Given the description of an element on the screen output the (x, y) to click on. 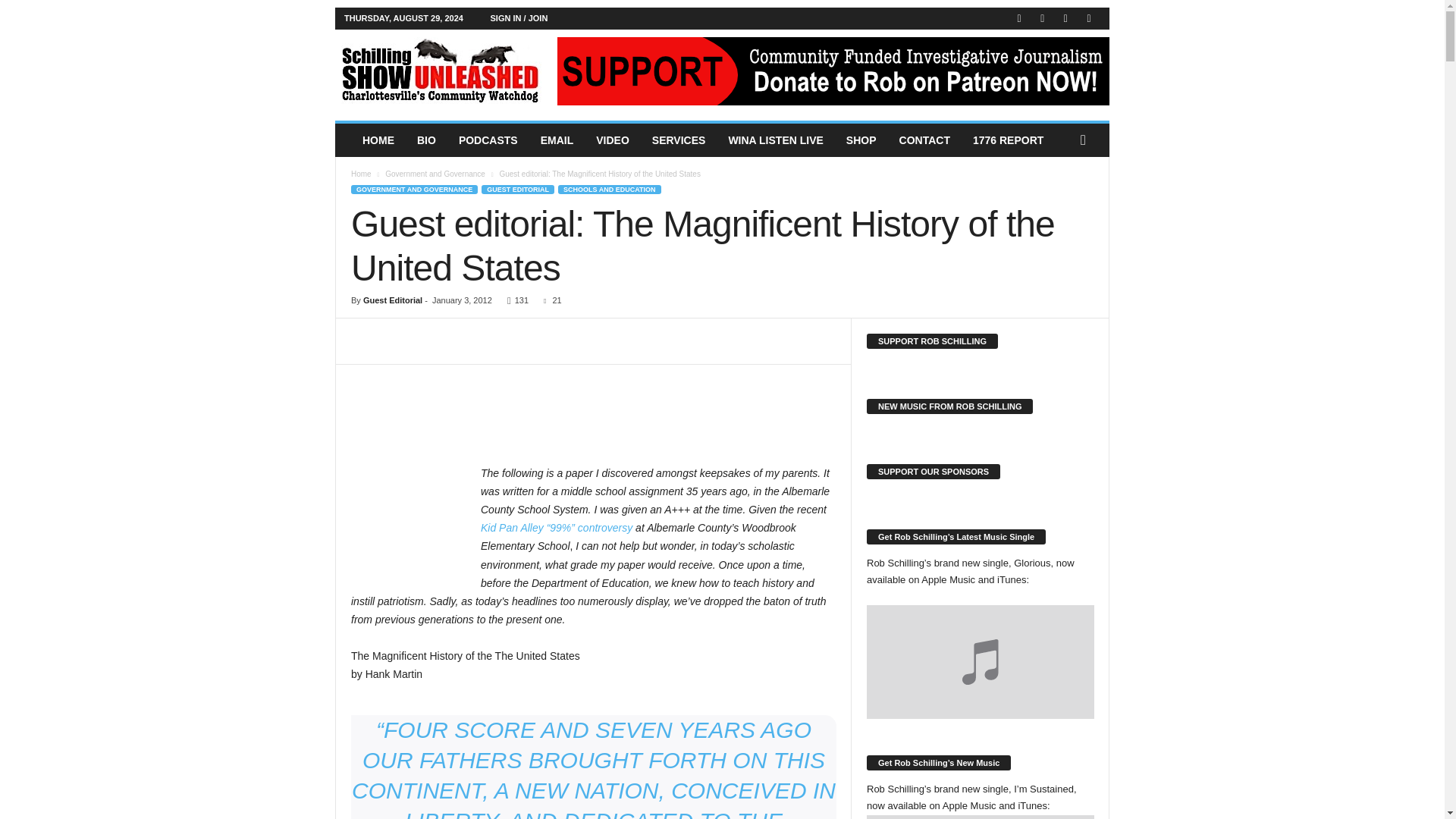
WINA LISTEN LIVE (775, 140)
Community Funded Investigative Journalism (437, 70)
SERVICES (678, 140)
VIDEO (612, 140)
SHOP (861, 140)
EMAIL (557, 140)
The Schilling Show Blog (437, 70)
HOME (378, 140)
BIO (426, 140)
PODCASTS (487, 140)
